Given the description of an element on the screen output the (x, y) to click on. 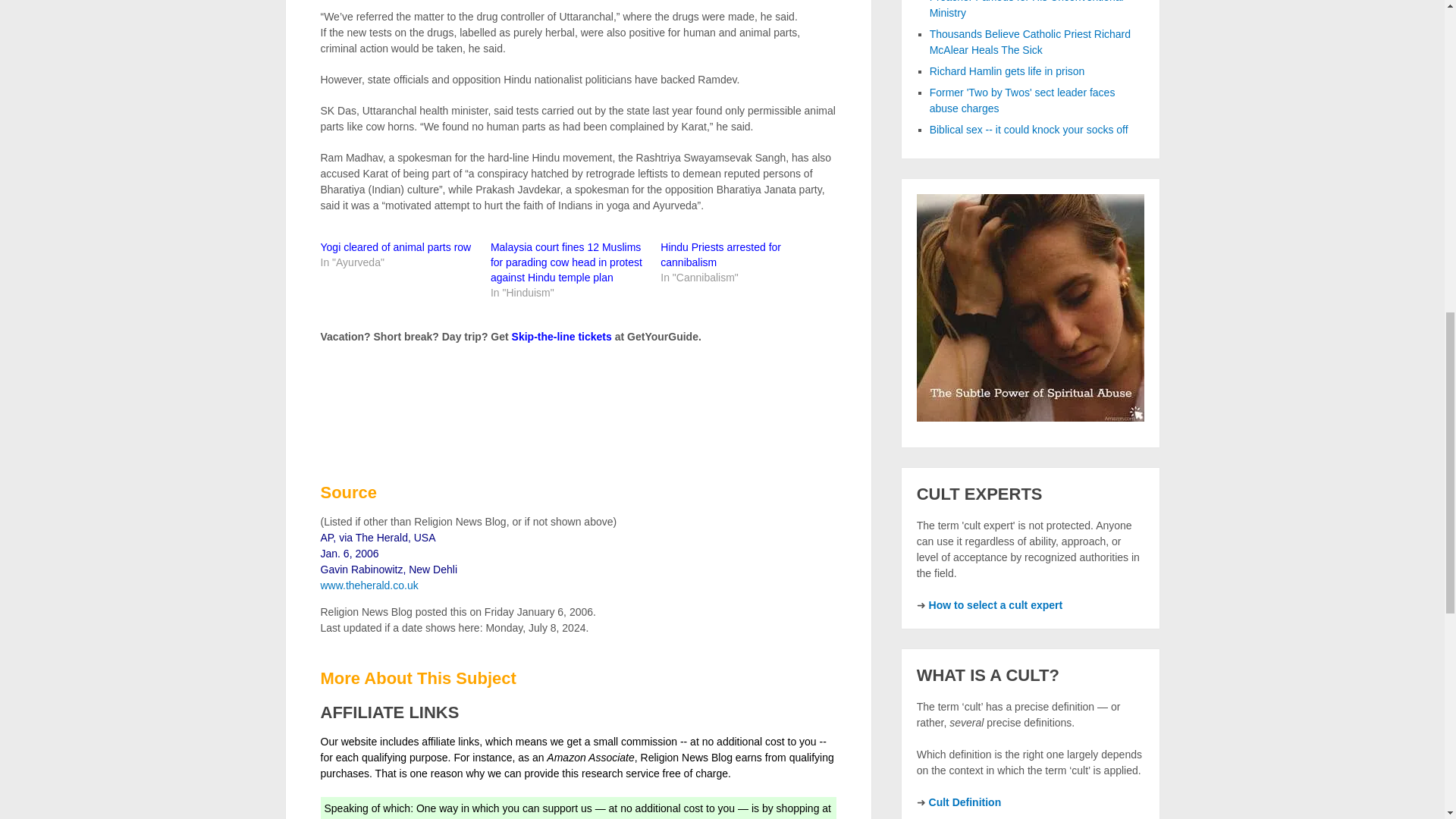
Biblical sex -- it could knock your socks off (1029, 129)
Hindu Priests arrested for cannibalism (720, 254)
Hindu Priests arrested for cannibalism (720, 254)
www.theherald.co.uk (368, 585)
GetYourGuide Widget (510, 401)
Amazon.com (355, 818)
How to select a cult expert (995, 604)
Former 'Two by Twos' sect leader faces abuse charges (1022, 100)
Yogi cleared of animal parts row (395, 246)
Richard Hamlin gets life in prison (1007, 70)
Yogi cleared of animal parts row (395, 246)
